Given the description of an element on the screen output the (x, y) to click on. 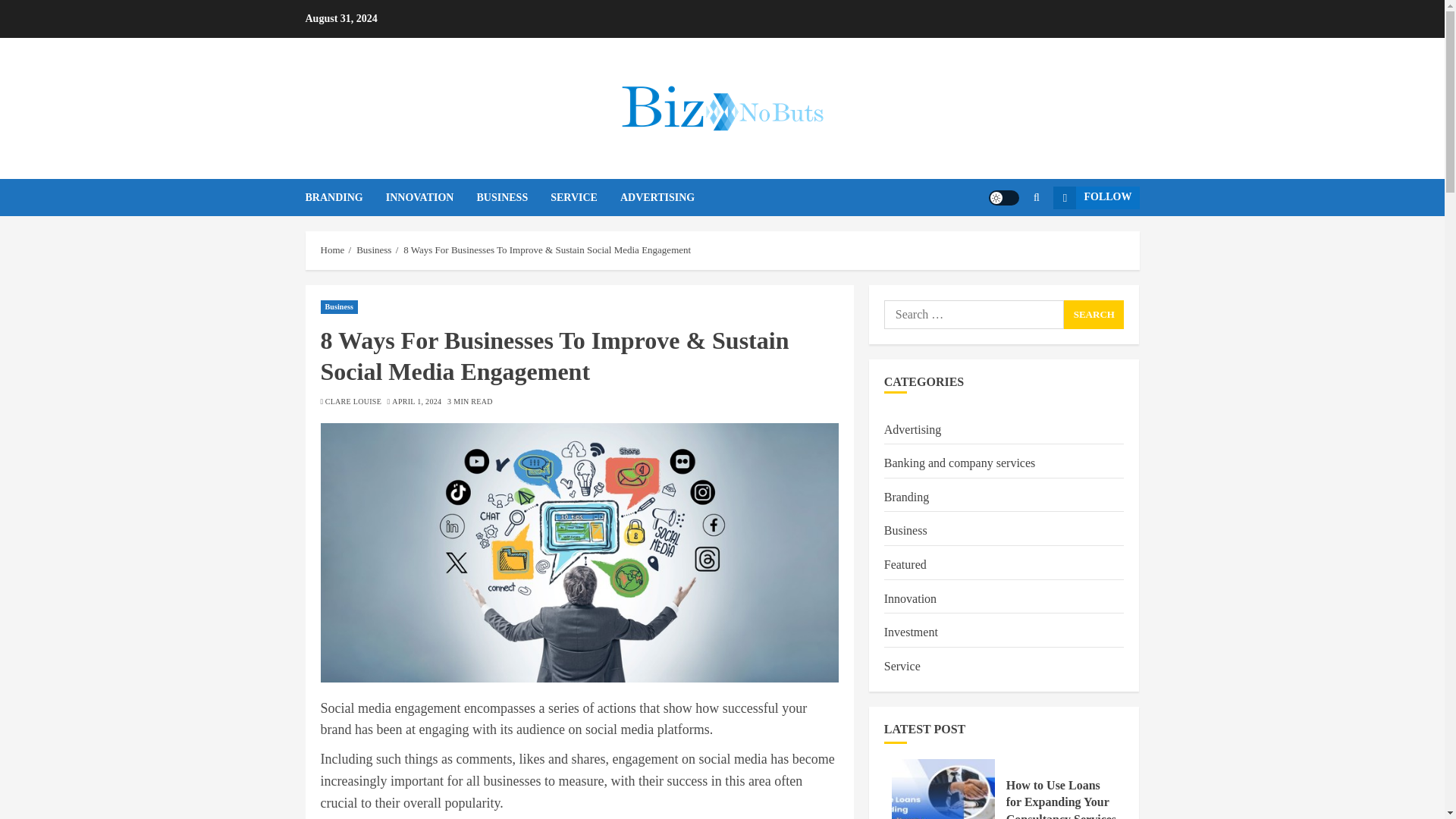
Business (339, 306)
Investment (910, 632)
Featured (904, 565)
How to Use Loans for Expanding Your Consultancy Services (1061, 798)
APRIL 1, 2024 (416, 401)
Business (373, 250)
Search (1094, 314)
Home (331, 250)
Advertising (912, 430)
BRANDING (344, 197)
